Given the description of an element on the screen output the (x, y) to click on. 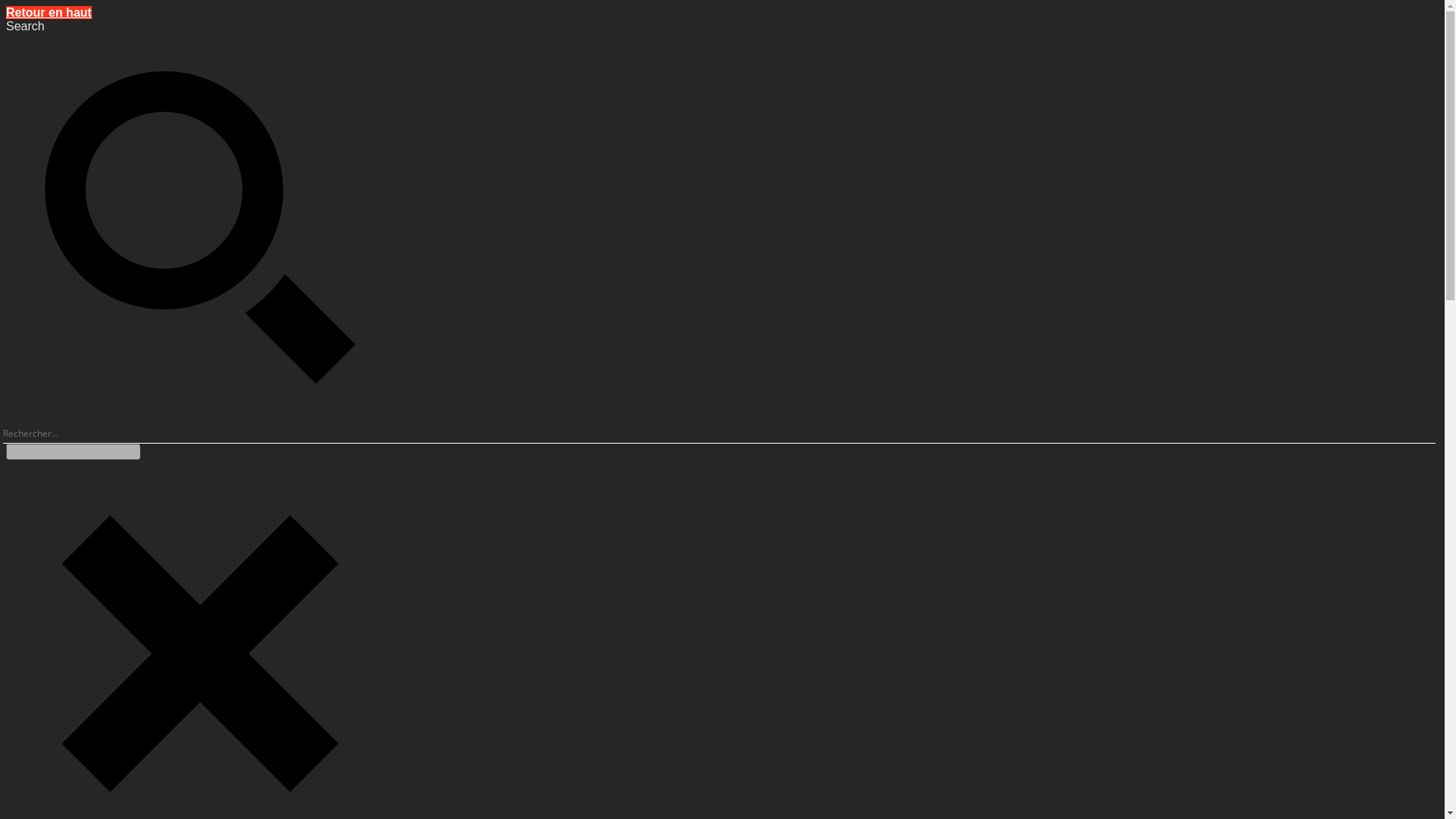
Retour en haut Element type: text (48, 12)
